Given the description of an element on the screen output the (x, y) to click on. 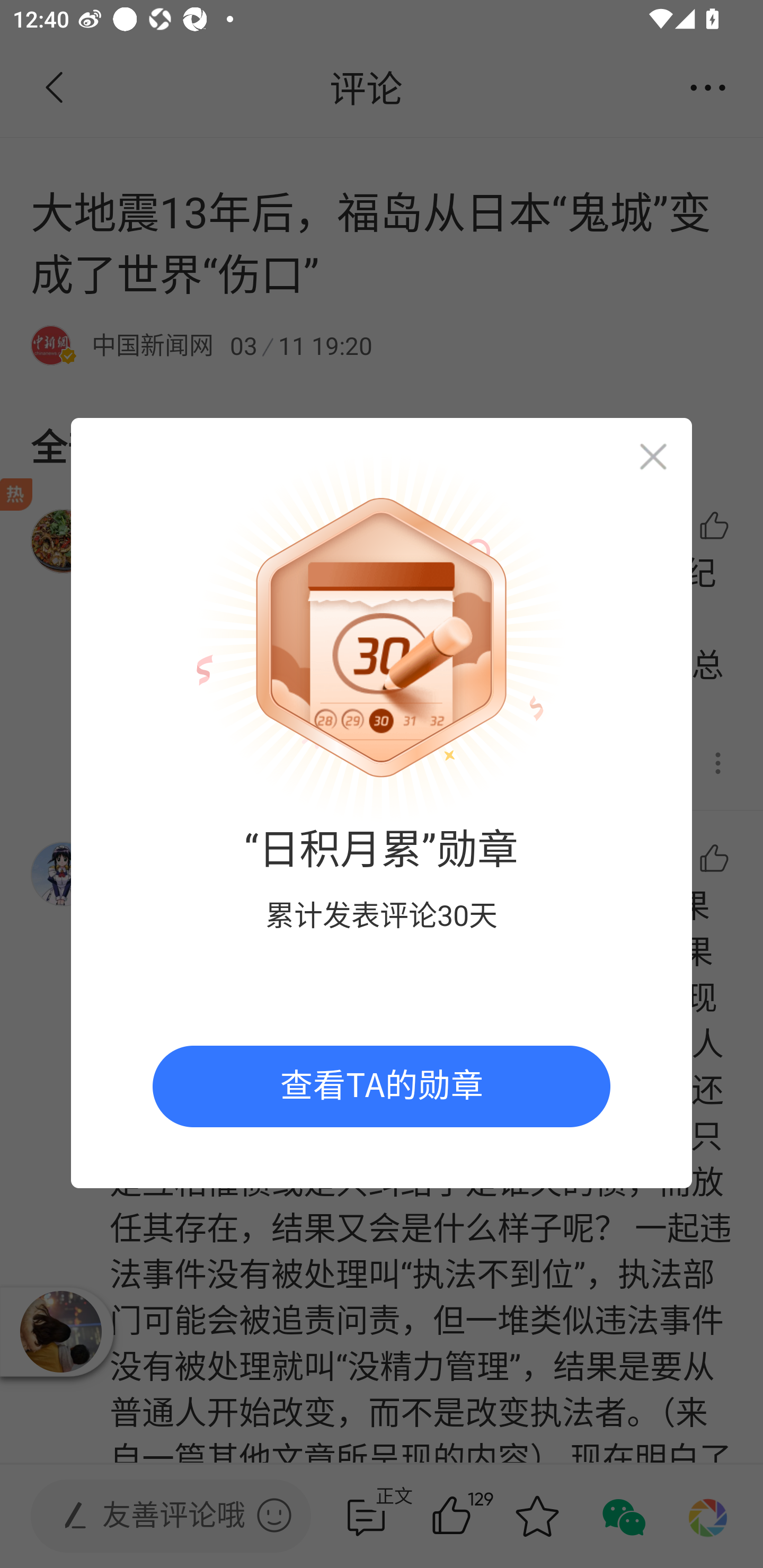
查看TA的勋章 (381, 1086)
